Given the description of an element on the screen output the (x, y) to click on. 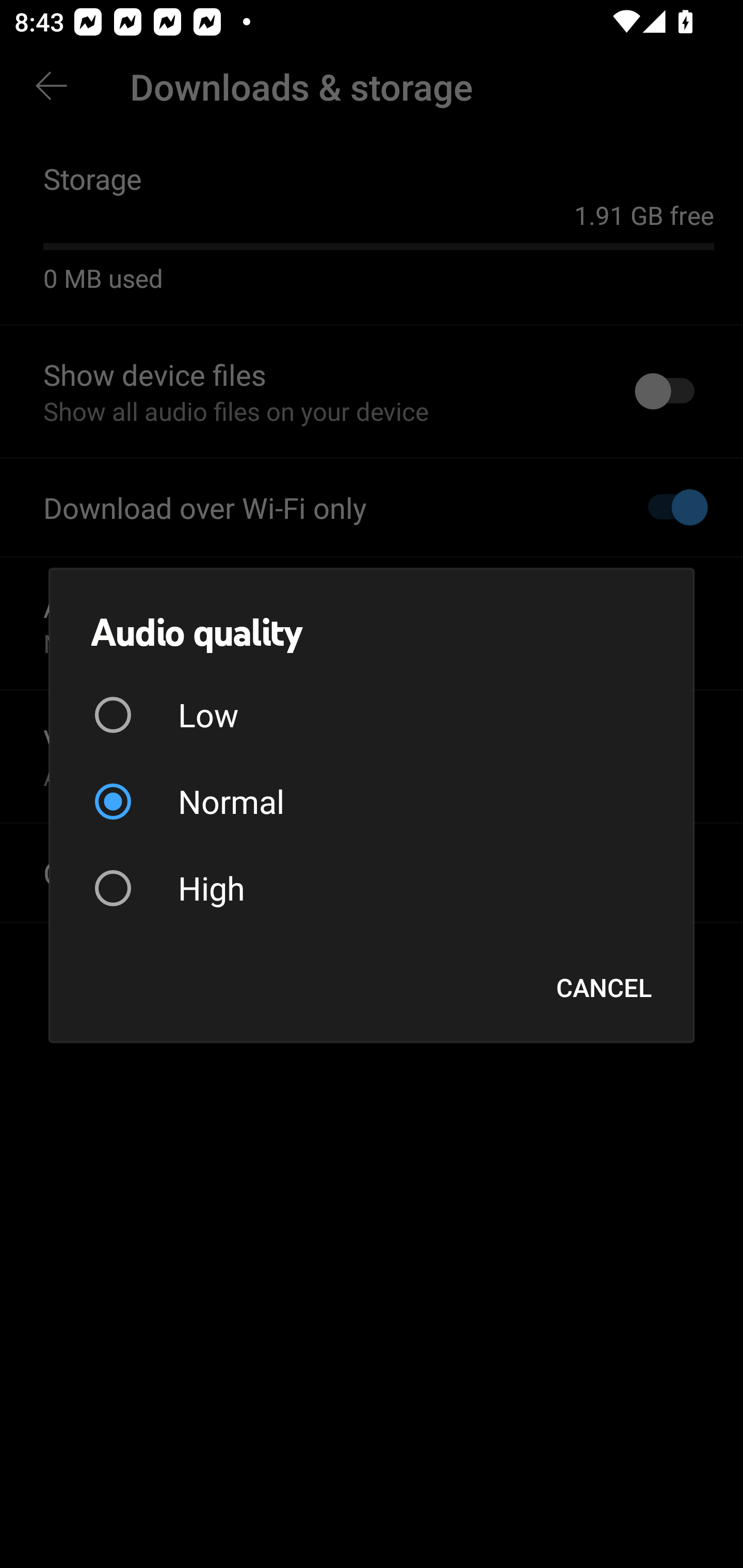
Low (371, 714)
Normal (371, 801)
High (371, 888)
CANCEL (603, 987)
